Given the description of an element on the screen output the (x, y) to click on. 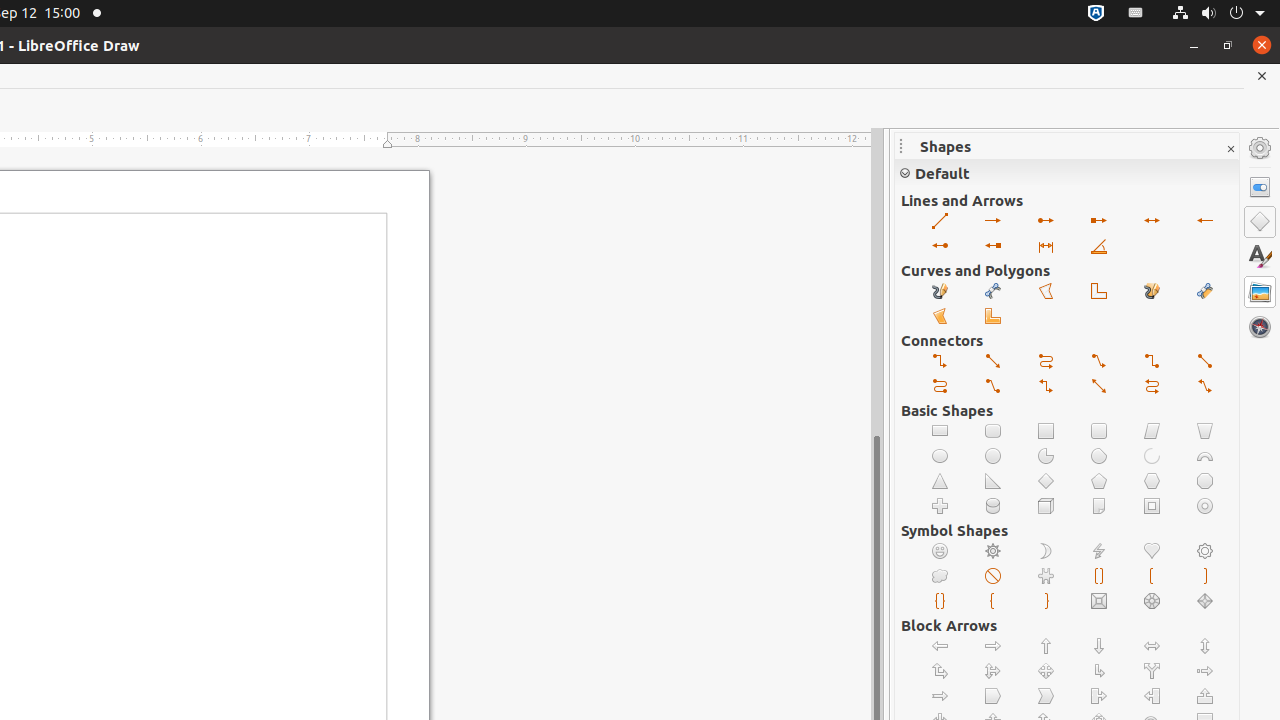
Moon Element type: list-item (1046, 551)
Line (45°) Element type: list-item (1099, 246)
Frame Element type: list-item (1152, 506)
Hexagon Element type: list-item (1152, 481)
Polygon Element type: list-item (1046, 291)
